Given the description of an element on the screen output the (x, y) to click on. 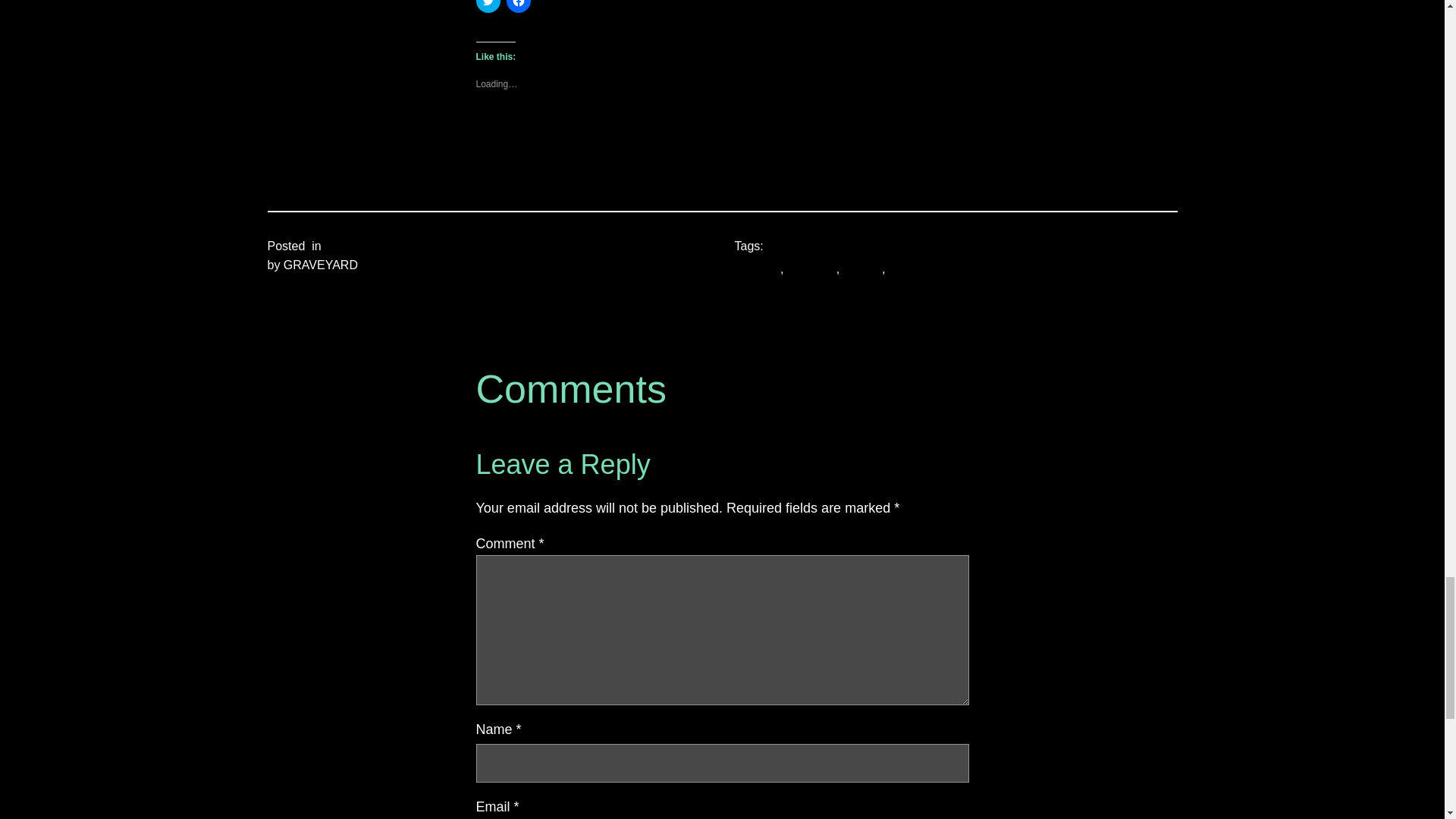
Click to share on Facebook (518, 6)
continent (811, 268)
country (862, 268)
GraveTalk (351, 245)
australia (755, 268)
Click to share on Twitter (488, 6)
gravetalk (912, 268)
